Given the description of an element on the screen output the (x, y) to click on. 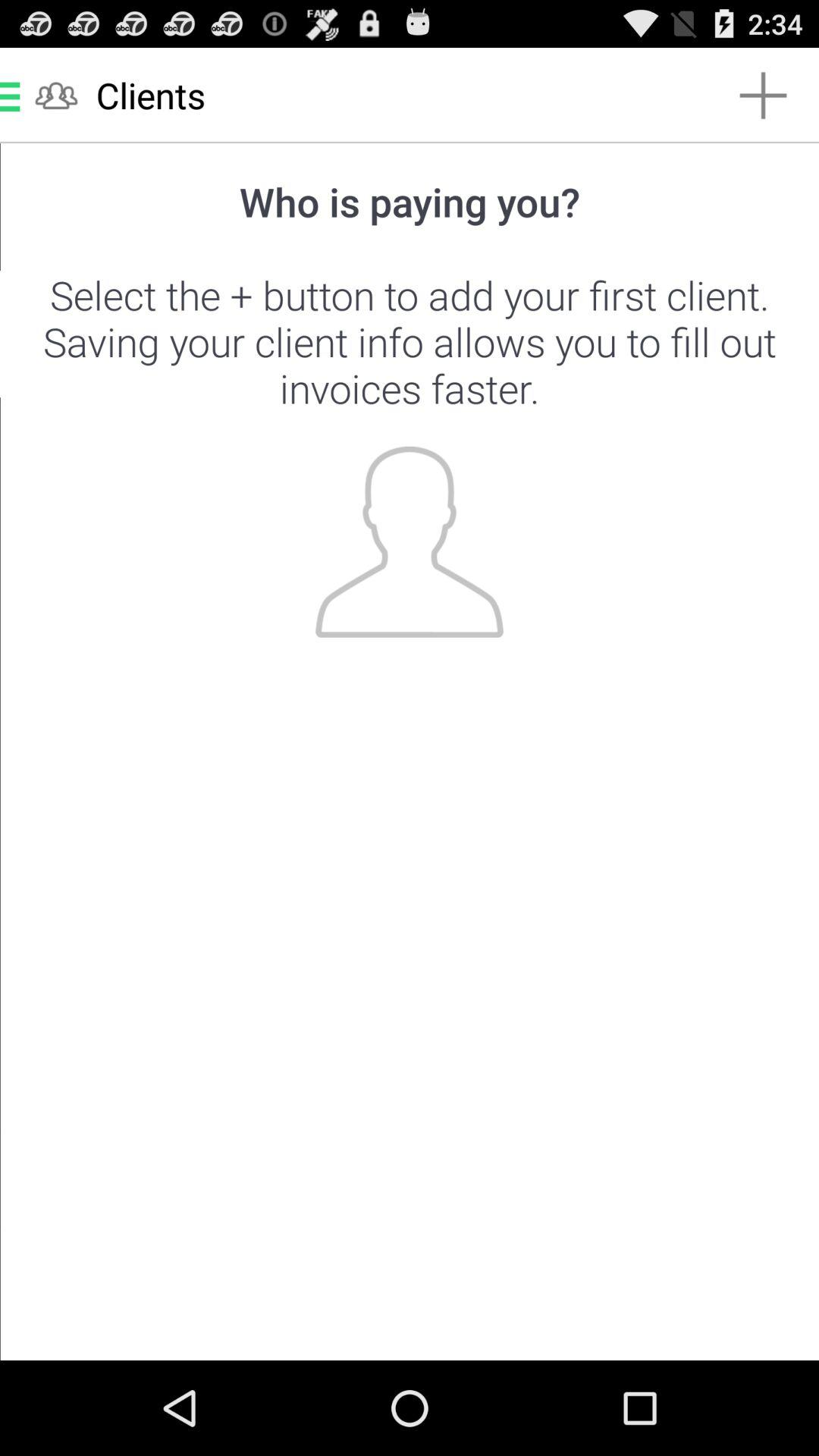
select the plus icon to add client (409, 751)
